Given the description of an element on the screen output the (x, y) to click on. 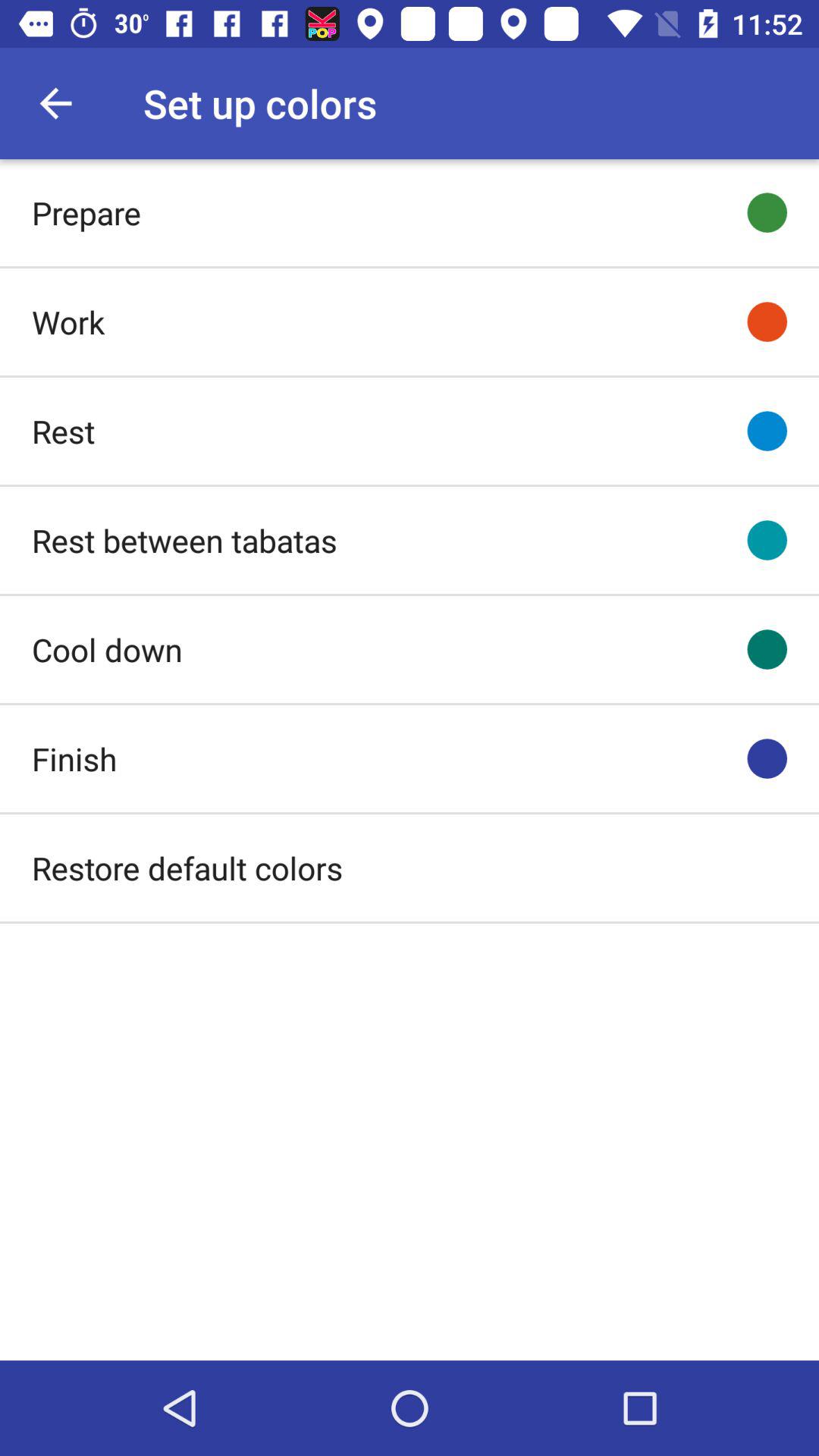
swipe until the work (67, 321)
